Given the description of an element on the screen output the (x, y) to click on. 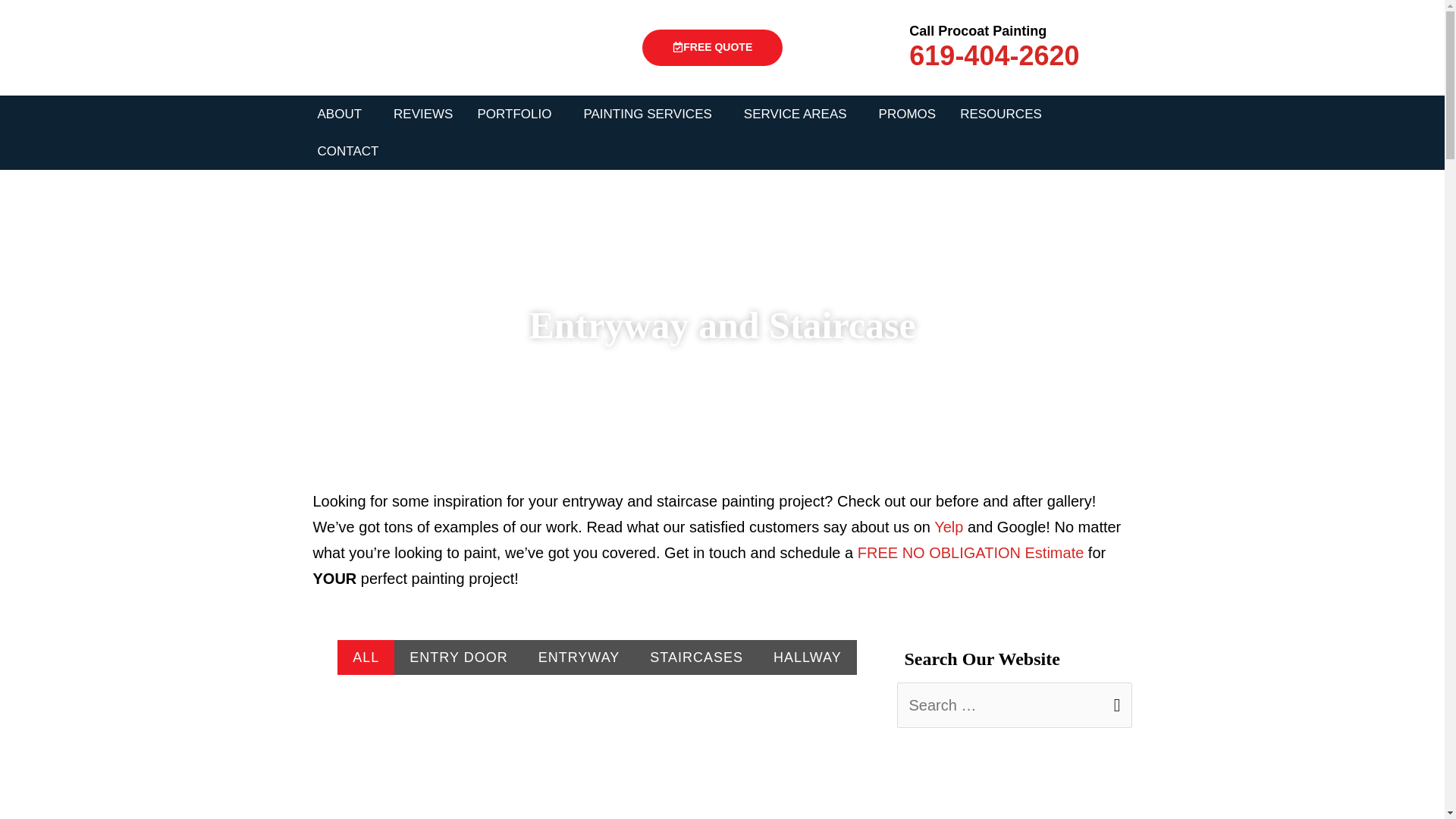
FREE QUOTE (712, 47)
Search (1114, 699)
Search (1114, 699)
PORTFOLIO (517, 113)
PAINTING SERVICES (650, 113)
619-404-2620 (993, 55)
REVIEWS (422, 113)
SERVICE AREAS (799, 113)
ABOUT (342, 113)
